Given the description of an element on the screen output the (x, y) to click on. 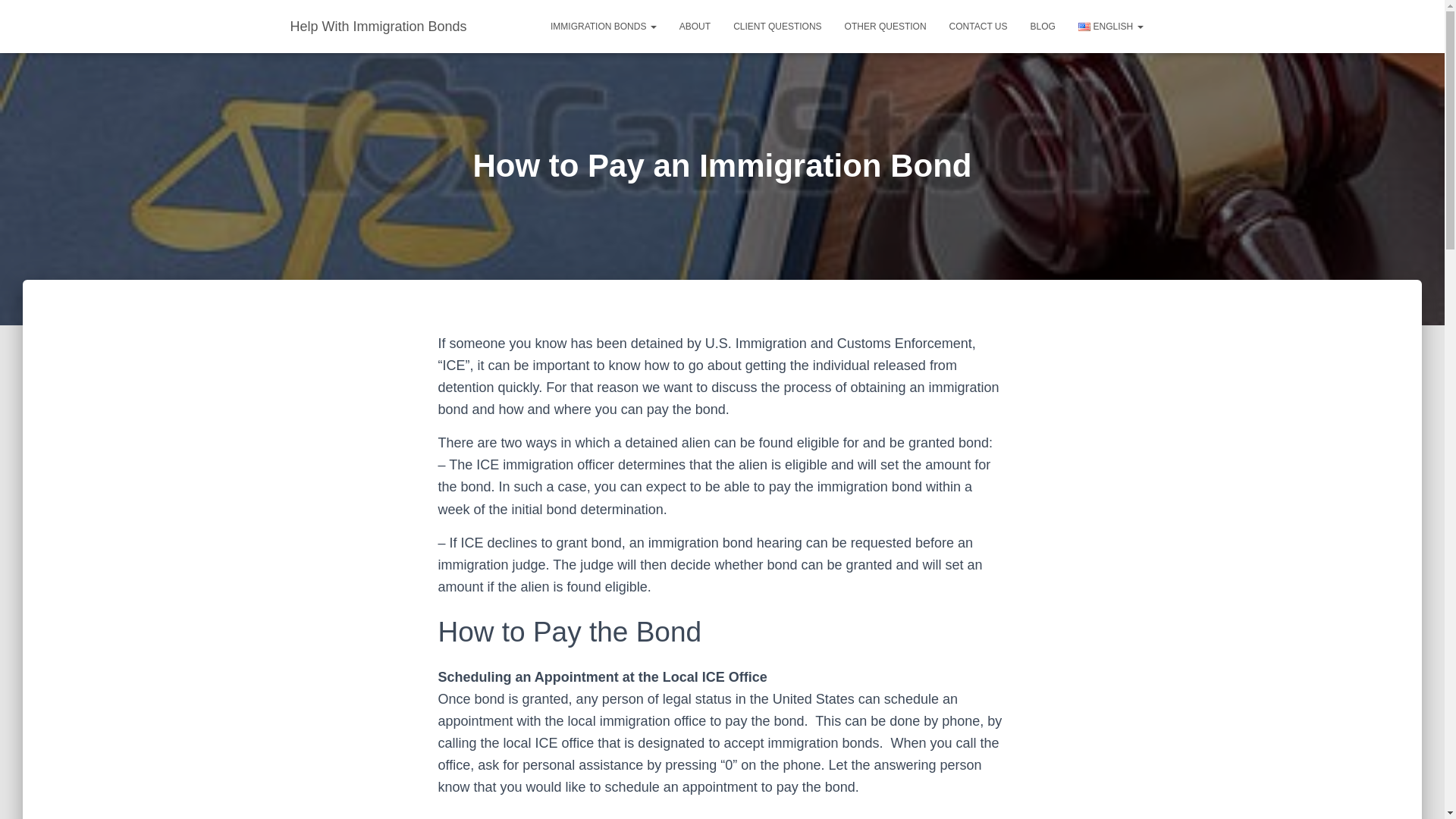
About (695, 26)
ENGLISH (1110, 26)
ABOUT (695, 26)
IMMIGRATION BONDS (603, 26)
OTHER QUESTION (884, 26)
Immigration Bonds (603, 26)
Help With Immigration Bonds (379, 26)
CONTACT US (978, 26)
Help With Immigration Bonds (379, 26)
BLOG (1043, 26)
